Given the description of an element on the screen output the (x, y) to click on. 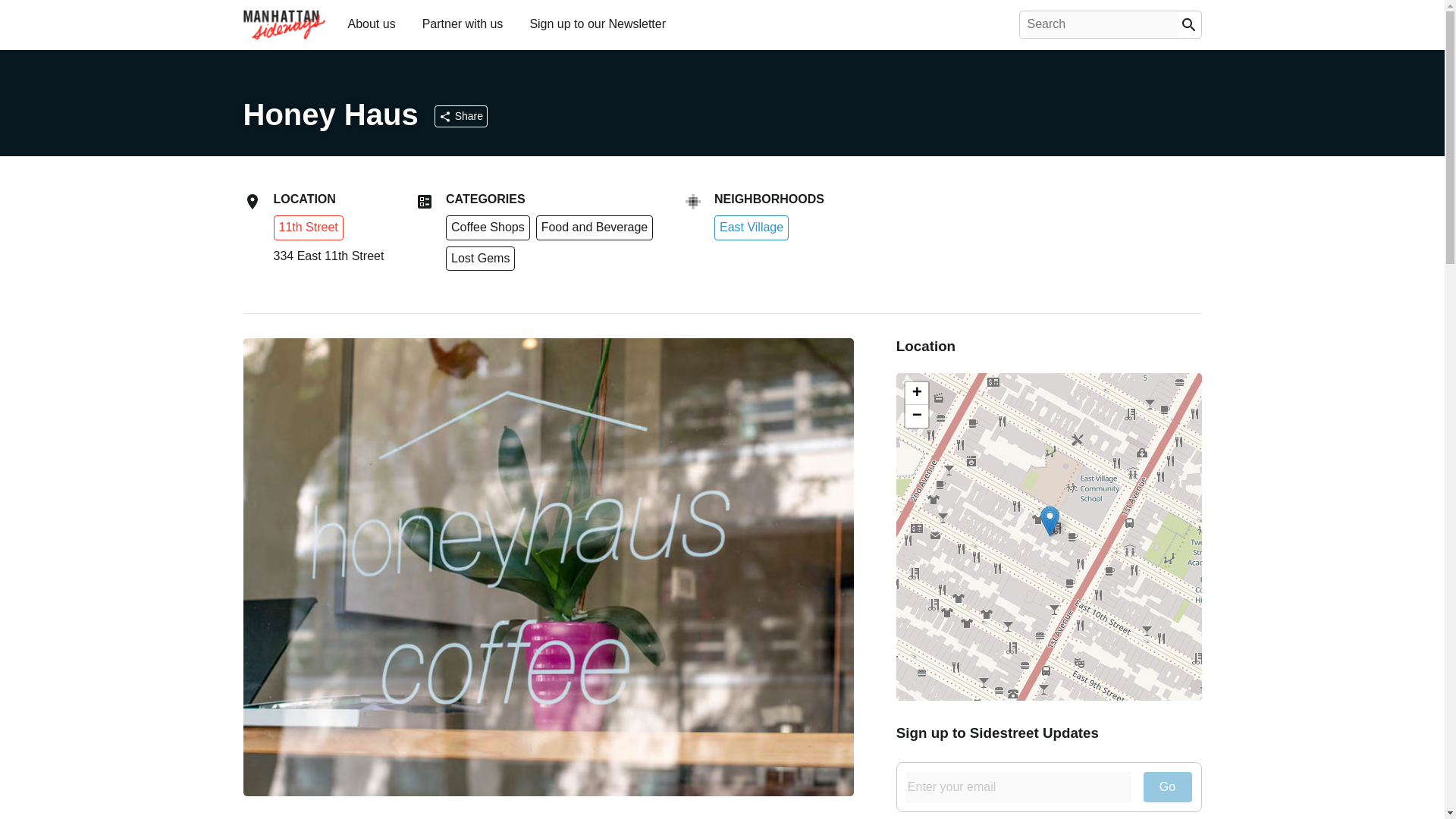
11th Street (307, 227)
Food and Beverage (594, 227)
Zoom in (916, 393)
Partner with us (462, 23)
11th Street (307, 226)
Sign up to our Newsletter (596, 23)
About us (371, 23)
Zoom out (916, 415)
Coffee Shops (487, 227)
Lost Gems (480, 258)
Go (1167, 787)
Share (460, 115)
East Village (751, 227)
